Given the description of an element on the screen output the (x, y) to click on. 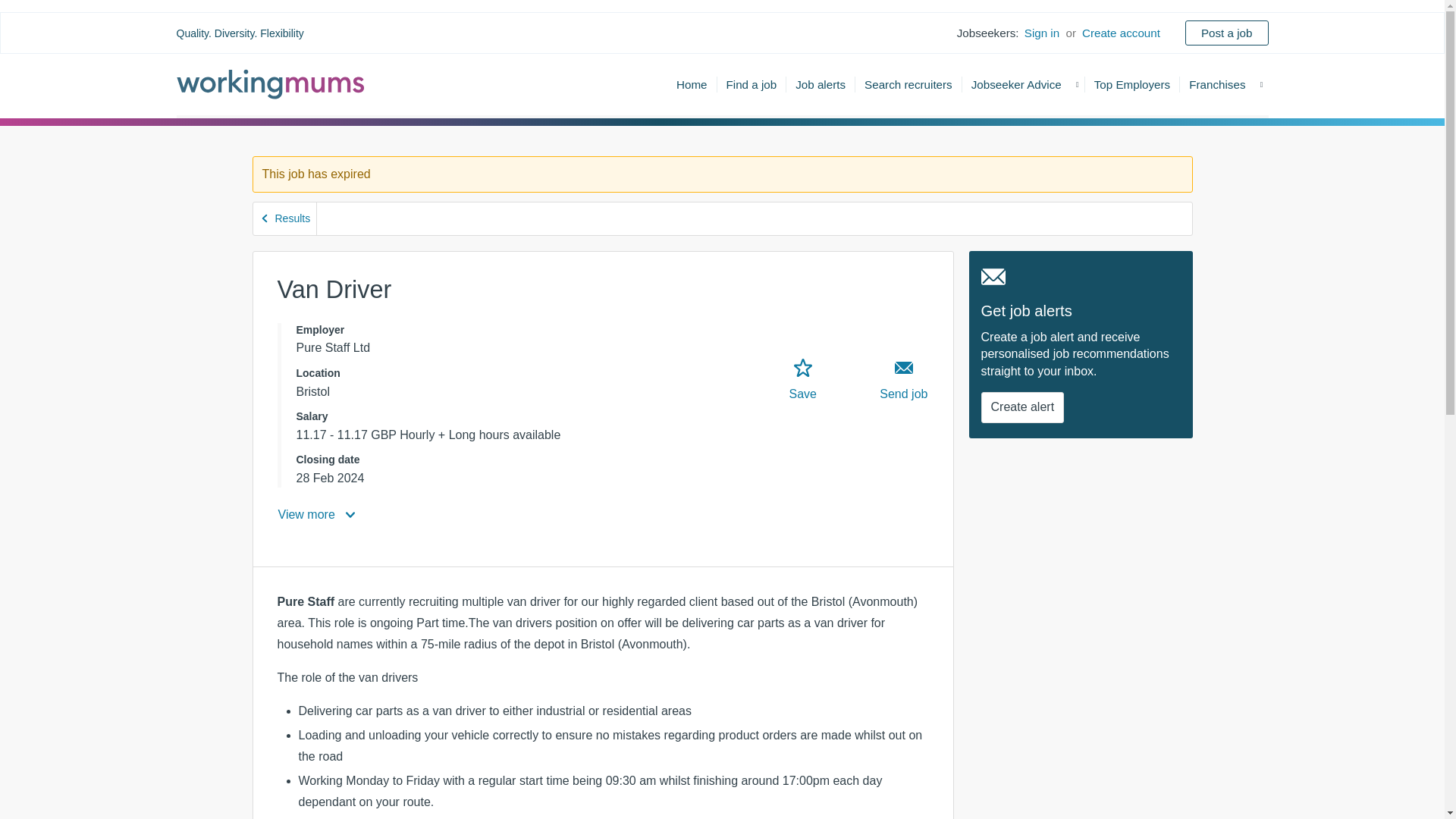
Results (285, 218)
Workingmums.co.uk (270, 83)
Create account (1120, 32)
Top Employers (1132, 83)
Home (692, 83)
Find a job (751, 83)
View more (318, 514)
Sign in (1041, 32)
Post a job (1226, 32)
Job alerts (819, 83)
